Given the description of an element on the screen output the (x, y) to click on. 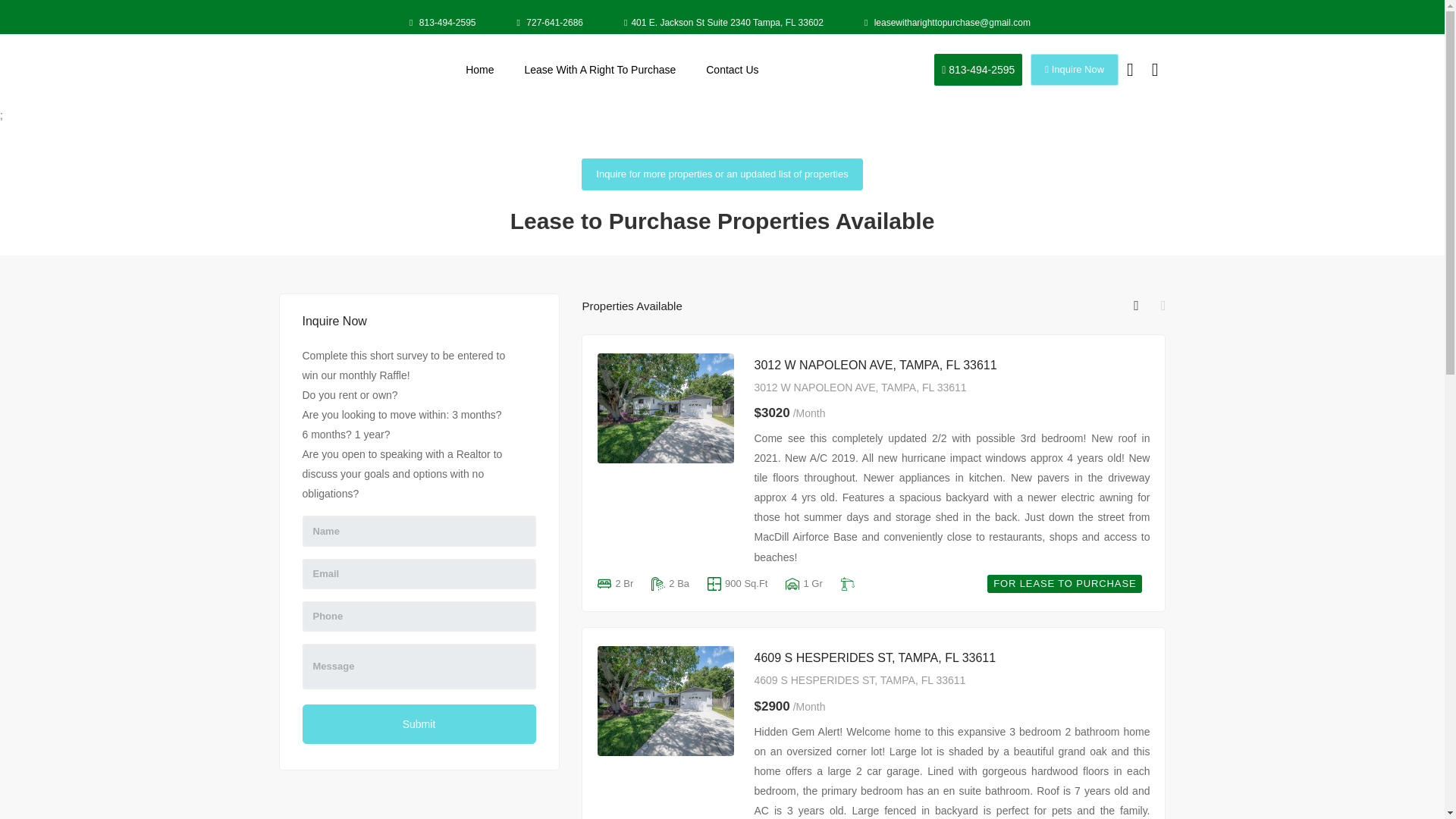
Inquire for more properties or an updated list of properties (720, 174)
3012 W NAPOLEON AVE, TAMPA, FL 33611 (952, 364)
Inquire Now (1074, 69)
813-494-2595 (444, 22)
FOR LEASE TO PURCHASE (736, 583)
727-641-2686 (1068, 583)
Home (551, 22)
Submit (479, 69)
Lease With A Right To Purchase (418, 723)
4609 S HESPERIDES ST, TAMPA, FL 33611 (600, 69)
813-494-2595 (952, 658)
Contact Us (978, 69)
